Given the description of an element on the screen output the (x, y) to click on. 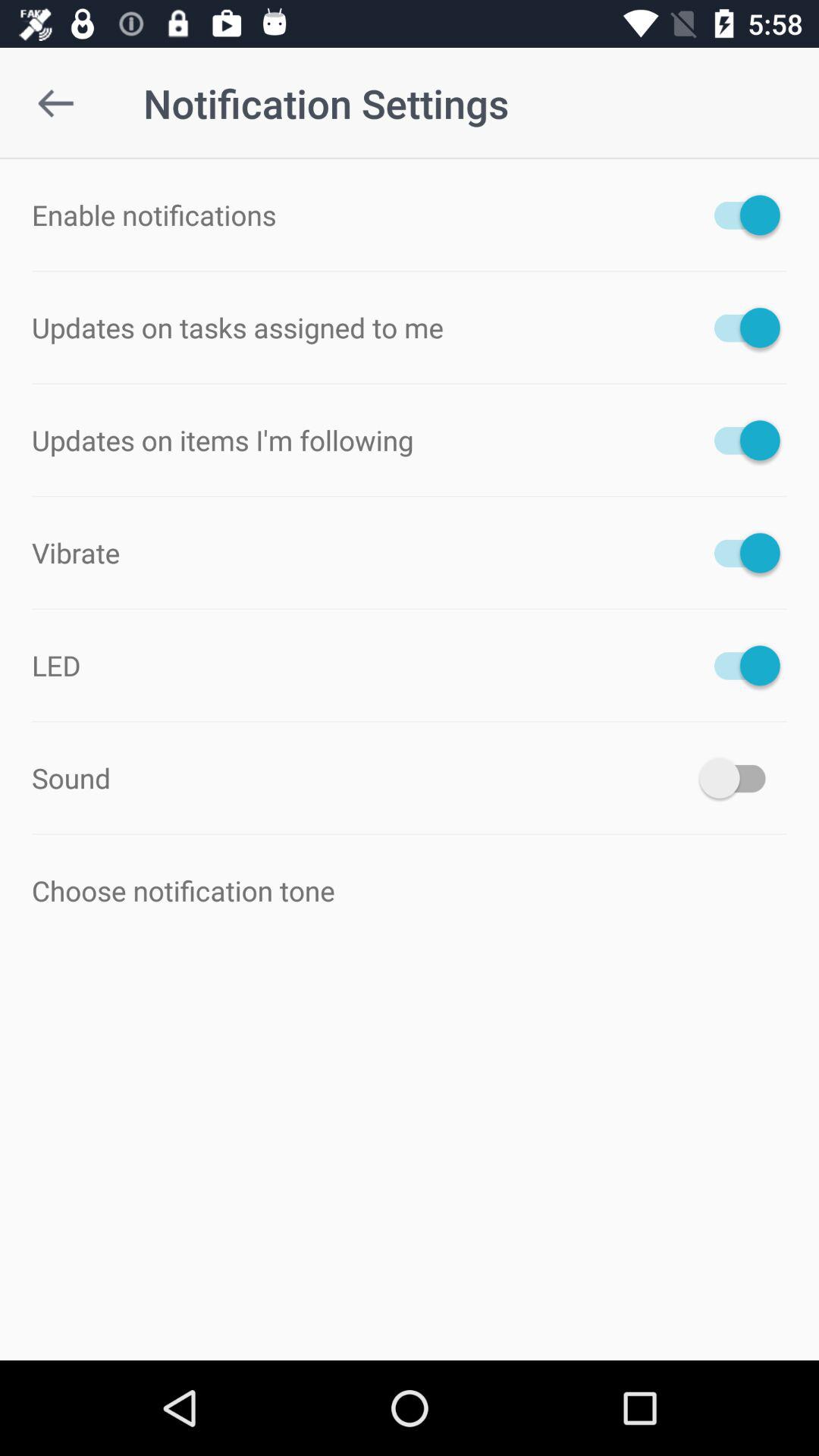
open the icon next to sound item (739, 777)
